Given the description of an element on the screen output the (x, y) to click on. 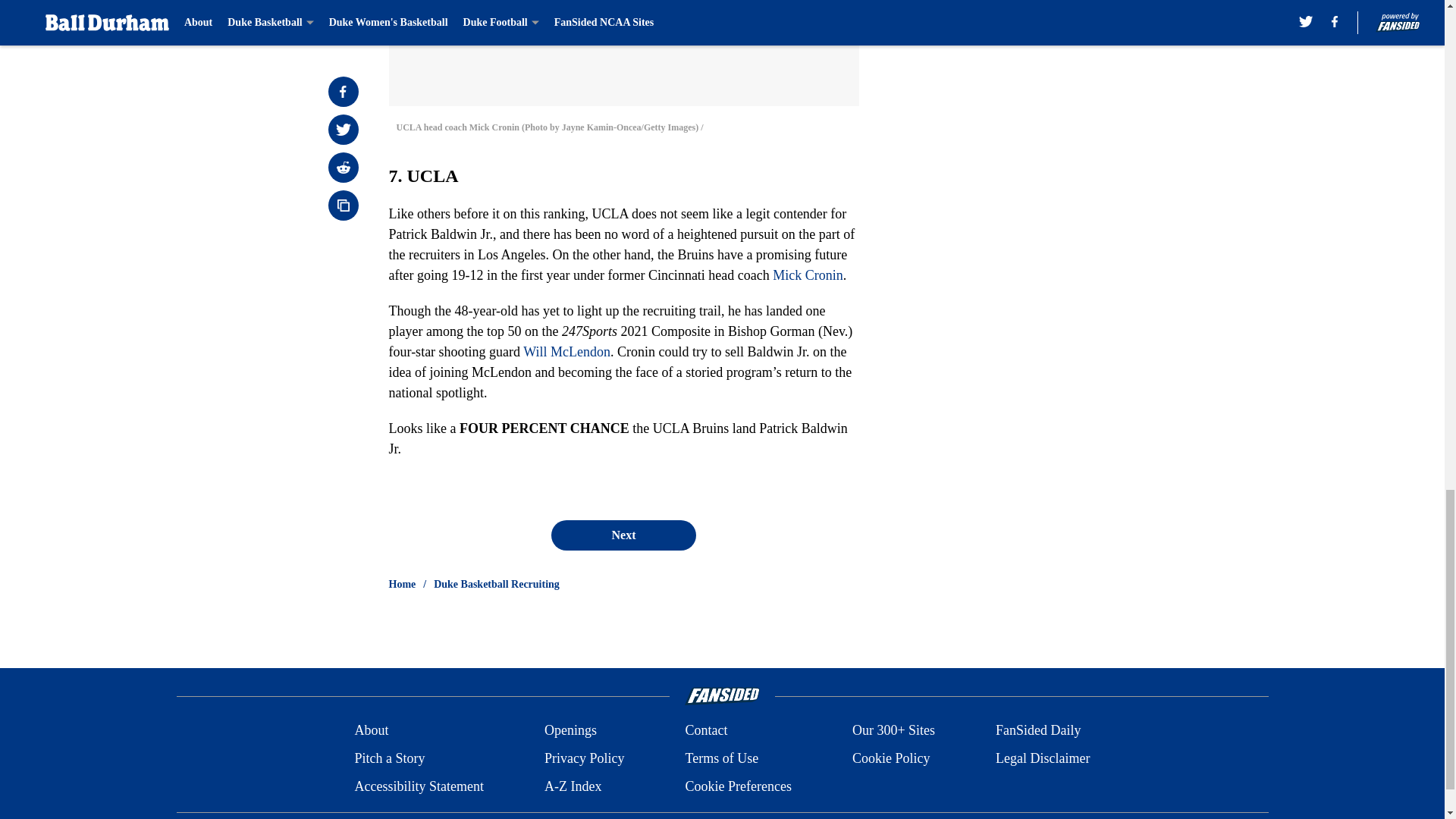
Legal Disclaimer (1042, 758)
Openings (570, 730)
Contact (705, 730)
Accessibility Statement (418, 786)
Cookie Policy (890, 758)
Will McLendon (566, 351)
FanSided Daily (1038, 730)
Mick Cronin (808, 274)
Terms of Use (721, 758)
Next (622, 535)
